Given the description of an element on the screen output the (x, y) to click on. 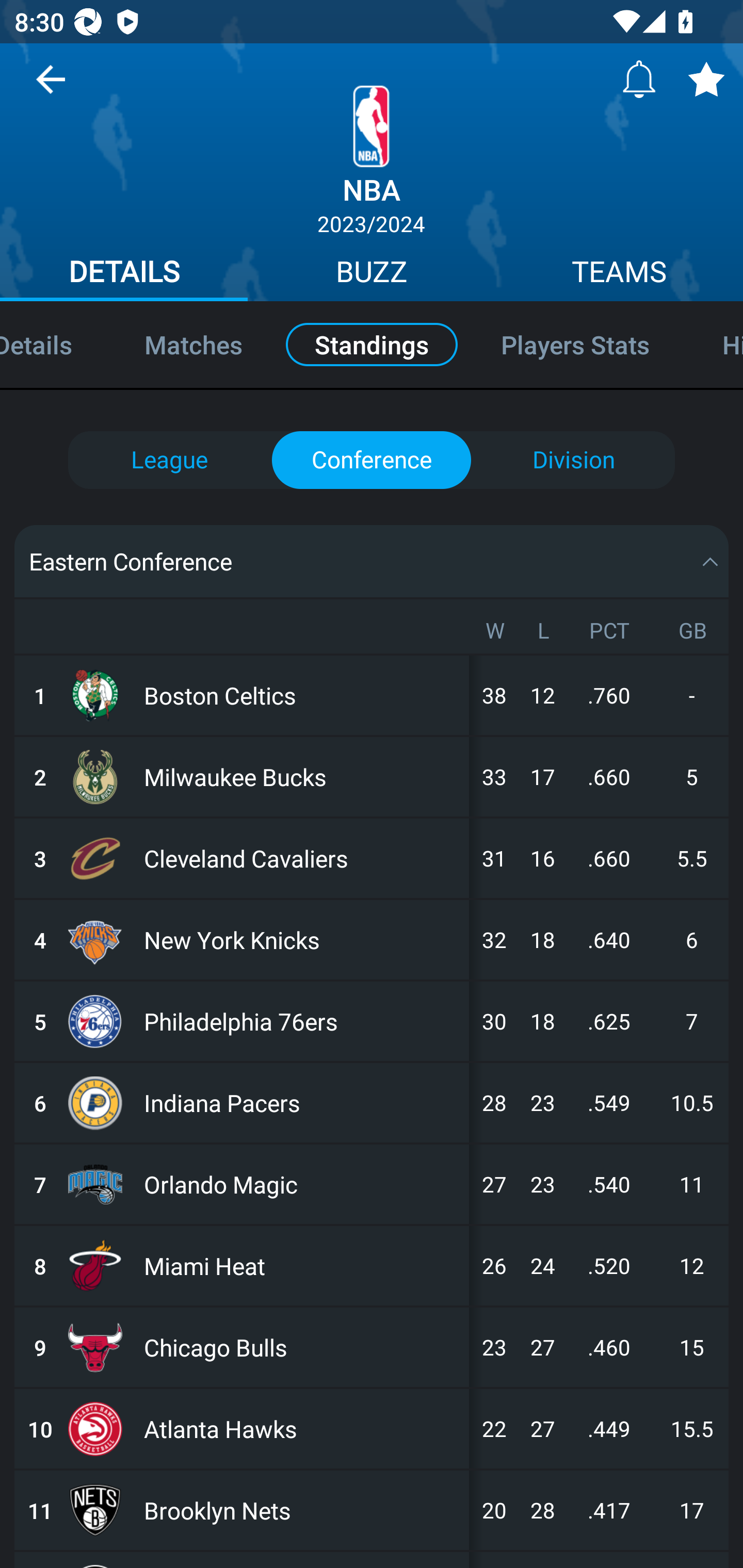
Navigate up (50, 86)
DETAILS (123, 274)
BUZZ (371, 274)
TEAMS (619, 274)
Details (54, 344)
Matches (193, 344)
Players Stats (575, 344)
League (169, 460)
Division (573, 460)
Eastern Conference (371, 561)
1 Boston Celtics 38 12 .760 - (371, 695)
Boston Celtics (302, 695)
2 Milwaukee Bucks 33 17 .660 5 (371, 776)
Milwaukee Bucks (302, 776)
3 Cleveland Cavaliers 31 16 .660 5.5 (371, 858)
Cleveland Cavaliers (302, 858)
4 New York Knicks 32 18 .640 6 (371, 940)
New York Knicks (302, 940)
5 Philadelphia 76ers 30 18 .625 7 (371, 1021)
Philadelphia 76ers (302, 1021)
6 Indiana Pacers 28 23 .549 10.5 (371, 1103)
Indiana Pacers (302, 1103)
7 Orlando Magic 27 23 .540 11 (371, 1184)
Orlando Magic (302, 1184)
8 Miami Heat 26 24 .520 12 (371, 1266)
Miami Heat (302, 1266)
9 Chicago Bulls 23 27 .460 15 (371, 1347)
Chicago Bulls (302, 1347)
10 Atlanta Hawks 22 27 .449 15.5 (371, 1429)
Atlanta Hawks (302, 1429)
11 Brooklyn Nets 20 28 .417 17 (371, 1509)
Brooklyn Nets (302, 1509)
